Given the description of an element on the screen output the (x, y) to click on. 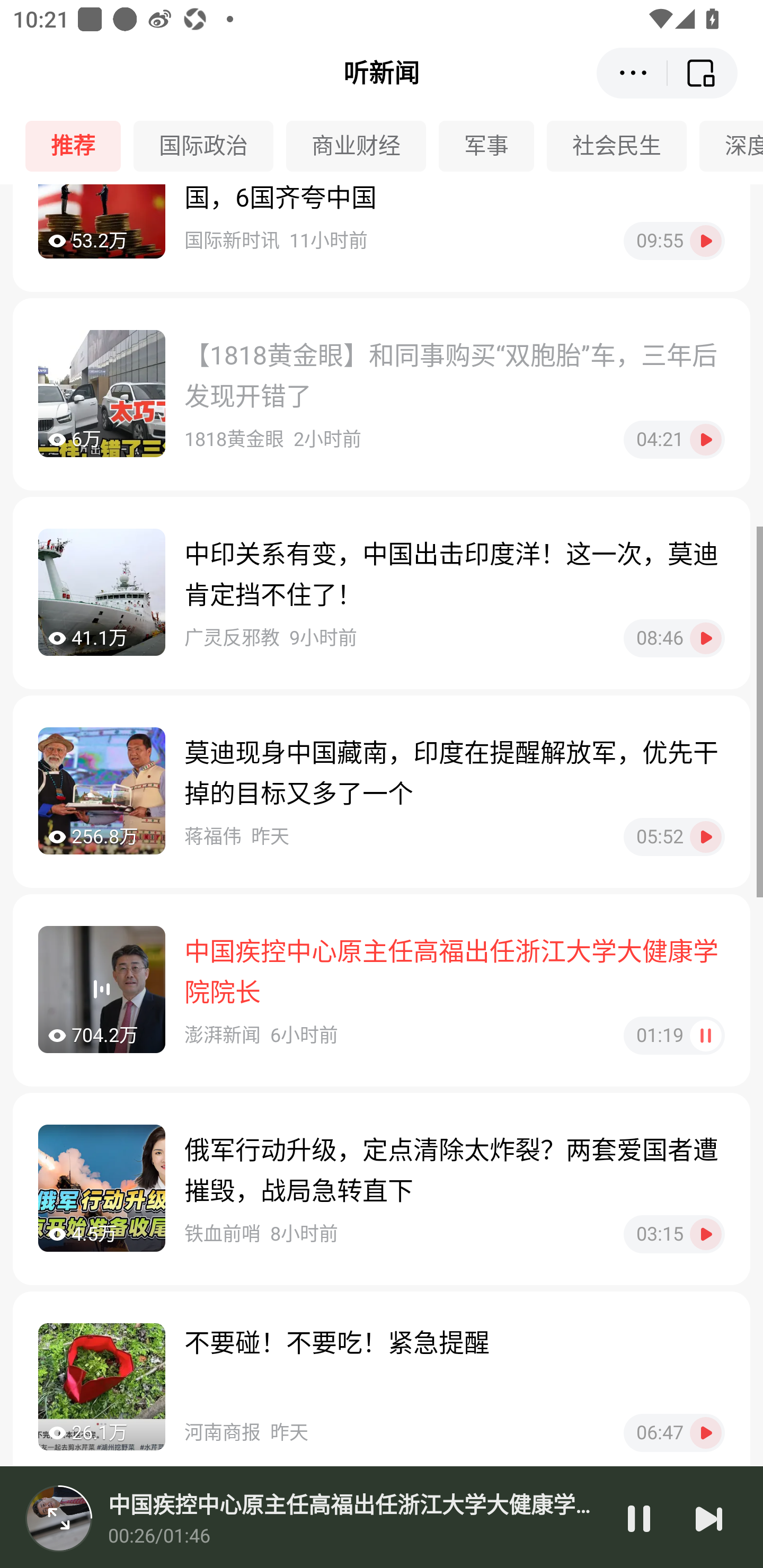
更多 (631, 72)
返回 (702, 72)
推荐 (79, 146)
国际政治 (209, 146)
商业财经 (362, 146)
军事 (492, 146)
社会民生 (623, 146)
09:55 (673, 241)
6万 【1818黄金眼】和同事购买“双胞胎”车，三年后发现开错了 1818黄金眼2小时前 04:21 (381, 393)
04:21 (673, 439)
41.1万 中印关系有变，中国出击印度洋！这一次，莫迪肯定挡不住了！ 广灵反邪教9小时前 08:46 (381, 593)
08:46 (673, 637)
256.8万 莫迪现身中国藏南，印度在提醒解放军，优先干掉的目标又多了一个 蒋福伟昨天 05:52 (381, 791)
05:52 (673, 837)
704.2万 中国疾控中心原主任高福出任浙江大学大健康学院院长 澎湃新闻6小时前 01:19 (381, 989)
01:19 (673, 1035)
4.5万 俄军行动升级，定点清除太炸裂？两套爱国者遭摧毁，战局急转直下 铁血前哨8小时前 03:15 (381, 1188)
03:15 (673, 1233)
26.1万 不要碰！不要吃！紧急提醒 河南商报昨天 06:47 (381, 1387)
06:47 (673, 1432)
音频播放页 中国疾控中心原主任高福出任浙江大学大健康学院院长 00:25/01:46 暂停 下一篇 (381, 1517)
暂停 (638, 1518)
下一篇 (708, 1518)
